Given the description of an element on the screen output the (x, y) to click on. 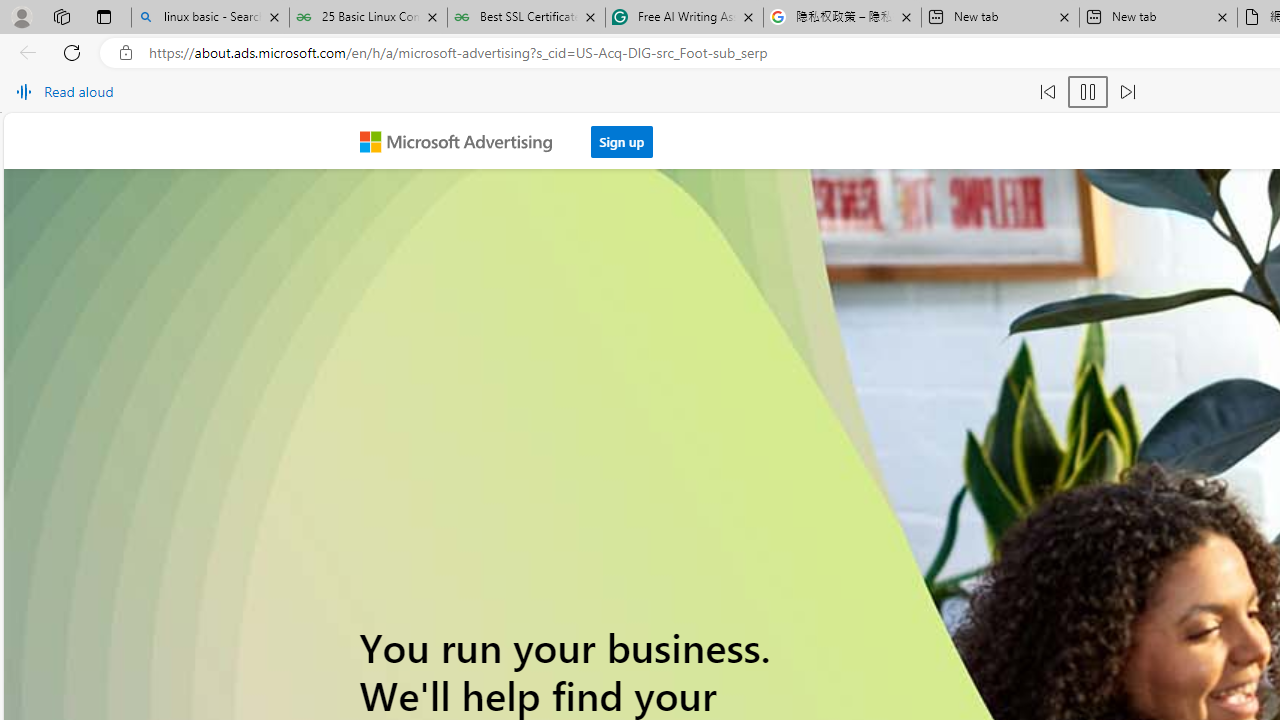
Pause read aloud (Ctrl+Shift+U) (1087, 92)
linux basic - Search (210, 17)
Microsoft Advertising (463, 140)
Read next paragraph (1128, 92)
Sign up (621, 136)
Read previous paragraph (1047, 92)
Sign up (622, 141)
